Given the description of an element on the screen output the (x, y) to click on. 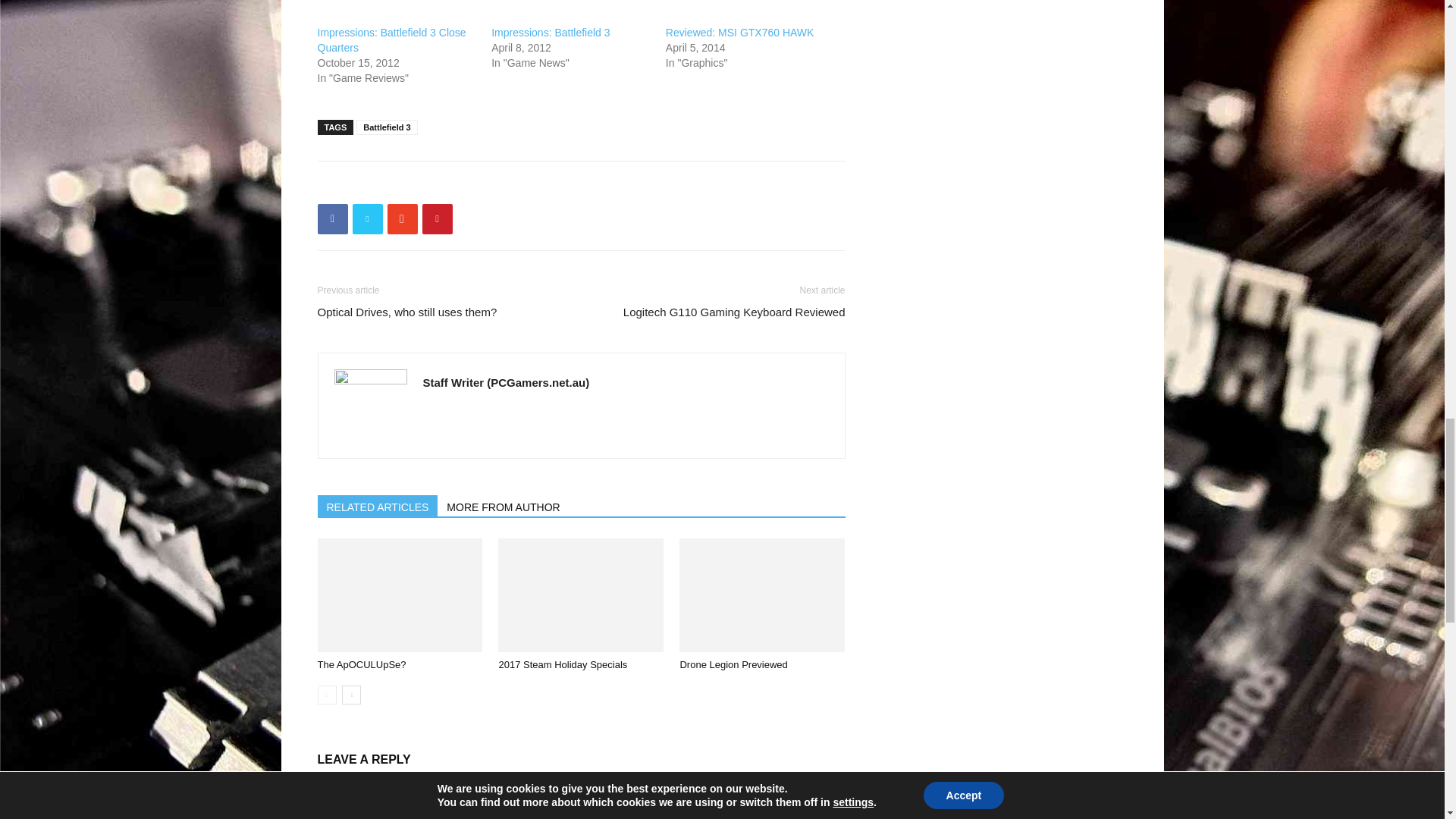
The ApOCULUpSe? (399, 594)
Impressions: Battlefield 3 (551, 32)
Impressions: Battlefield 3 Close Quarters (391, 40)
Reviewed: MSI GTX760 HAWK (739, 32)
